Given the description of an element on the screen output the (x, y) to click on. 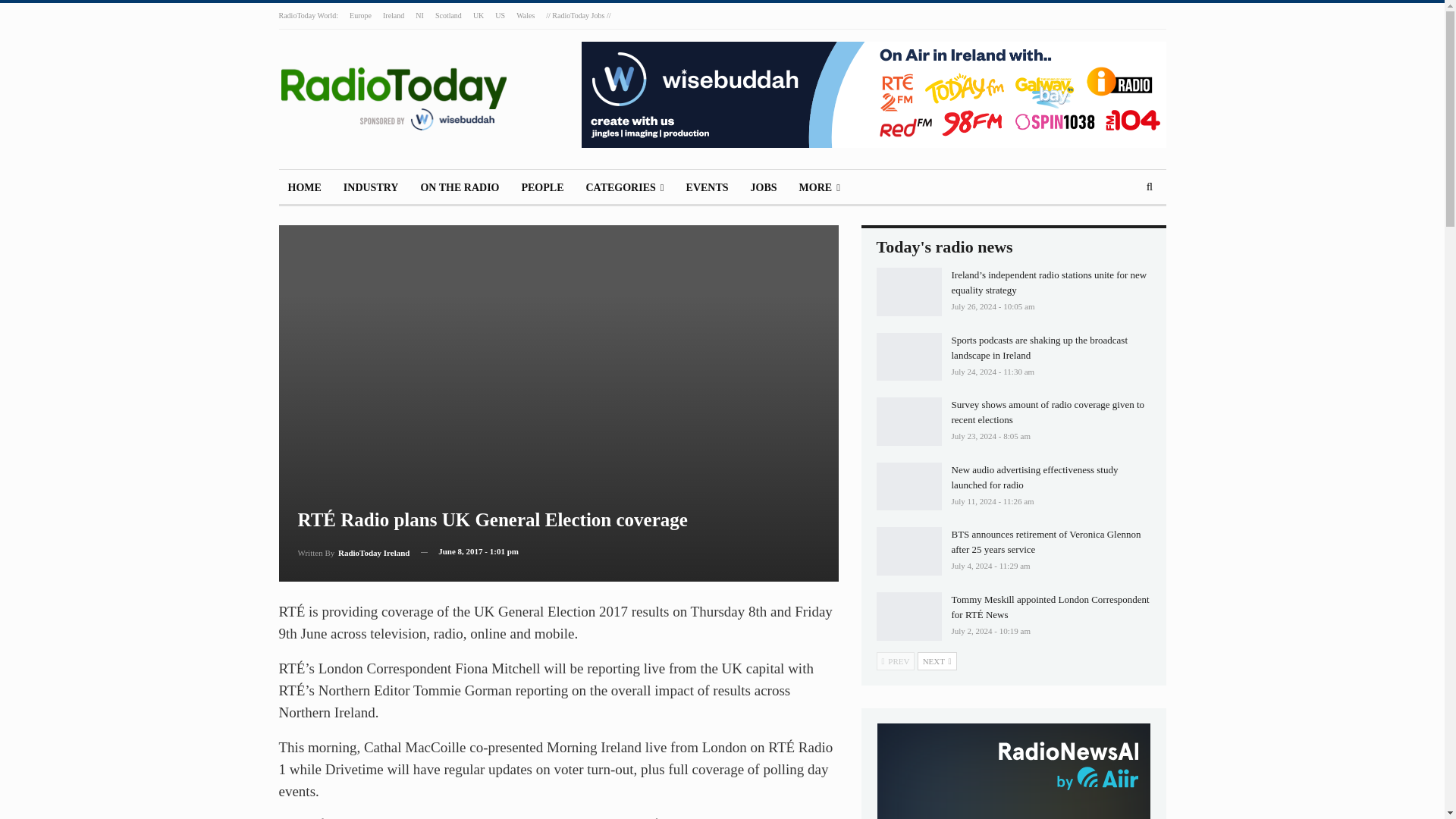
PEOPLE (542, 187)
CATEGORIES (624, 187)
Europe (360, 15)
US (500, 15)
EVENTS (707, 187)
Browse Author Articles (353, 551)
RadioToday World: (309, 15)
UK (478, 15)
ON THE RADIO (459, 187)
INDUSTRY (370, 187)
Wales (525, 15)
MORE (819, 187)
Written By RadioToday Ireland (353, 551)
Ireland (393, 15)
NI (418, 15)
